Given the description of an element on the screen output the (x, y) to click on. 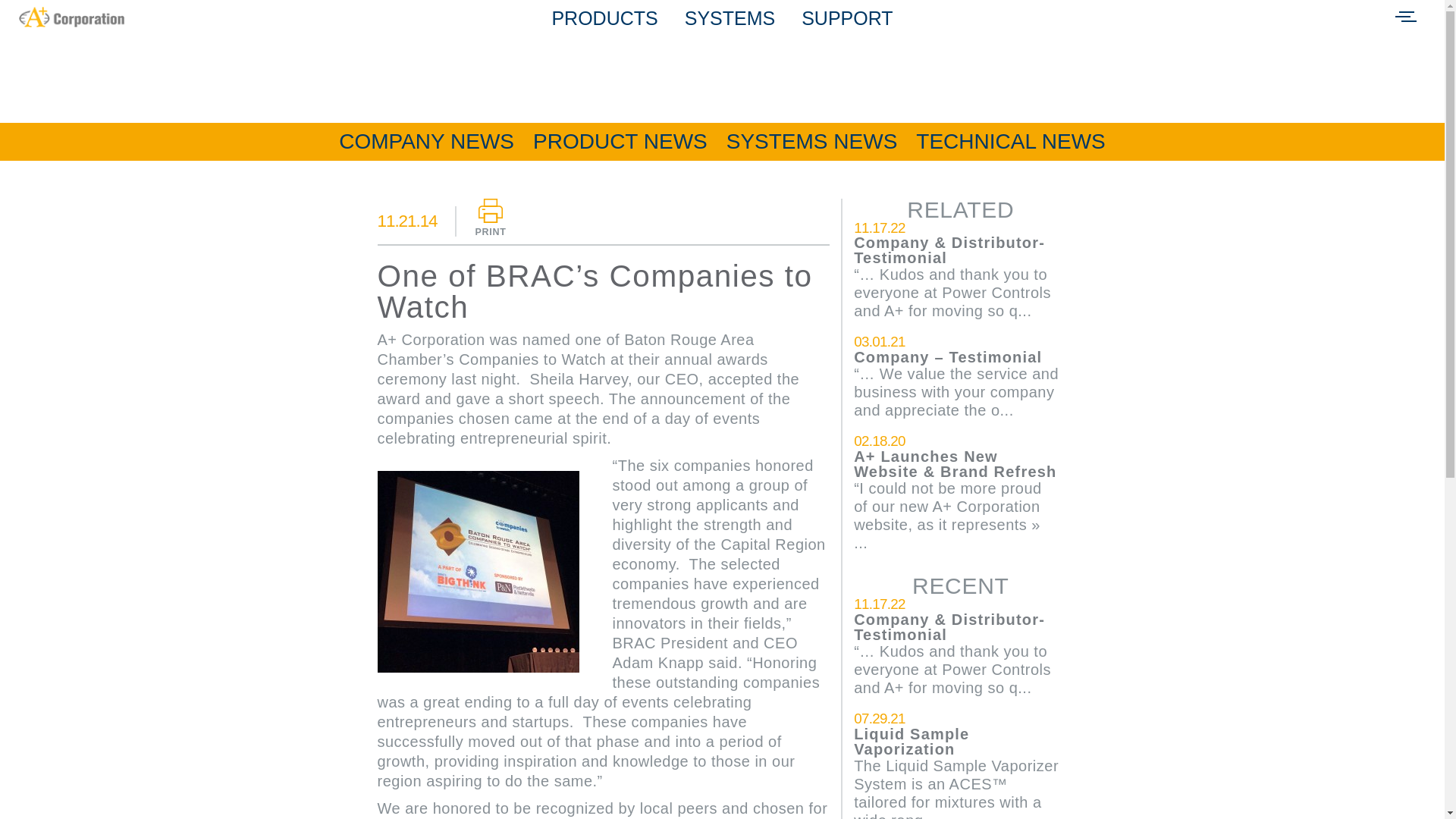
COMPANY NEWS (426, 141)
Search (41, 21)
SHARE (799, 66)
PRODUCT NEWS (619, 141)
SUPPORT (847, 17)
SYSTEMS NEWS (812, 141)
SYSTEMS (729, 17)
TECHNICAL NEWS (1010, 141)
PRODUCTS (604, 17)
PRINT (491, 218)
